Given the description of an element on the screen output the (x, y) to click on. 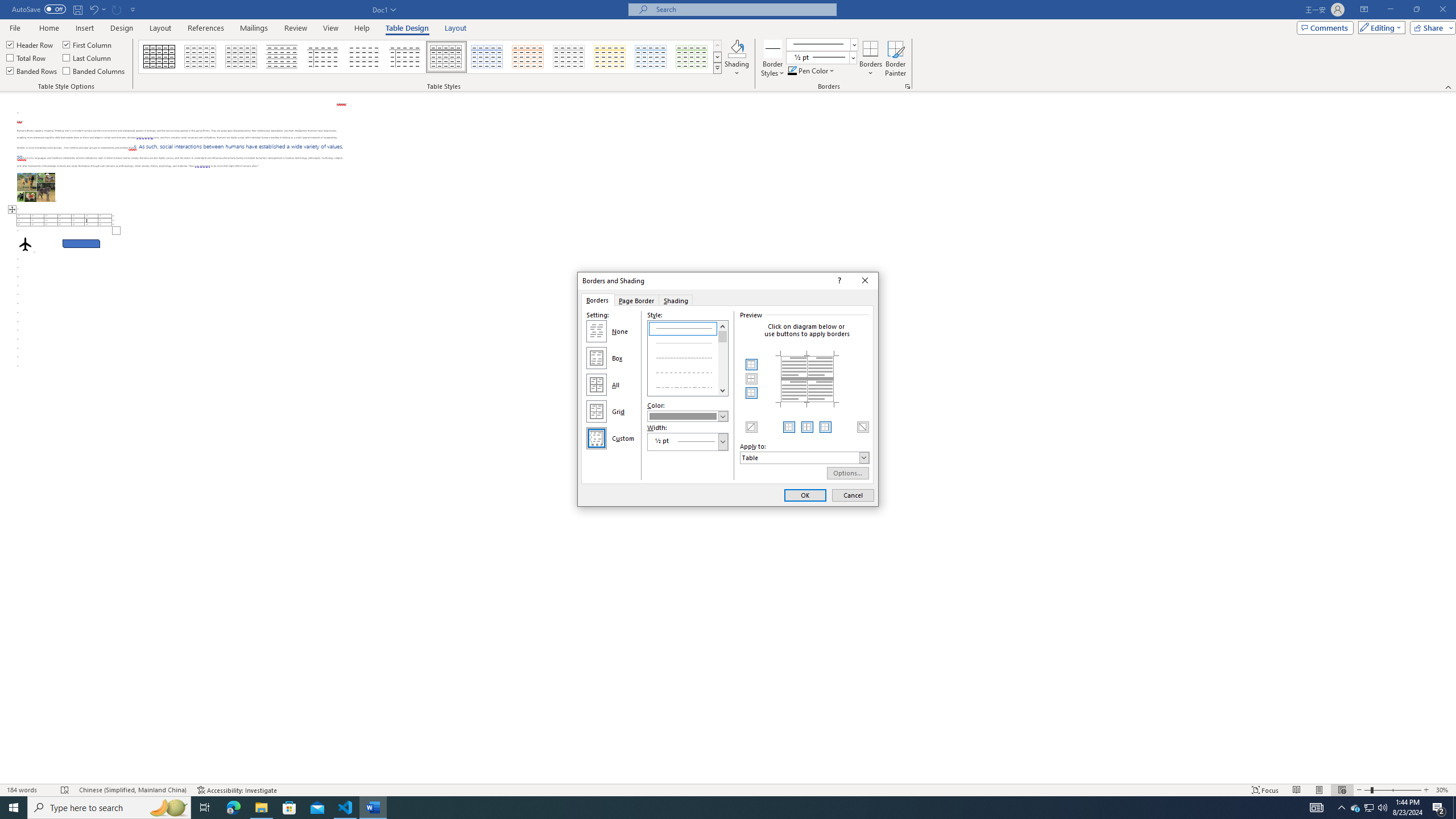
Line up (722, 325)
Last Column (88, 56)
Home (48, 28)
Q2790: 100% (1382, 807)
Table Design (407, 28)
Single solid line (687, 327)
Insert (83, 28)
Plain Table 3 (1368, 807)
All (322, 56)
Table Grid (596, 384)
Microsoft Store (159, 56)
Grid Table 1 Light - Accent 4 (289, 807)
Zoom In (609, 56)
Action Center, 2 new notifications (1426, 790)
